Given the description of an element on the screen output the (x, y) to click on. 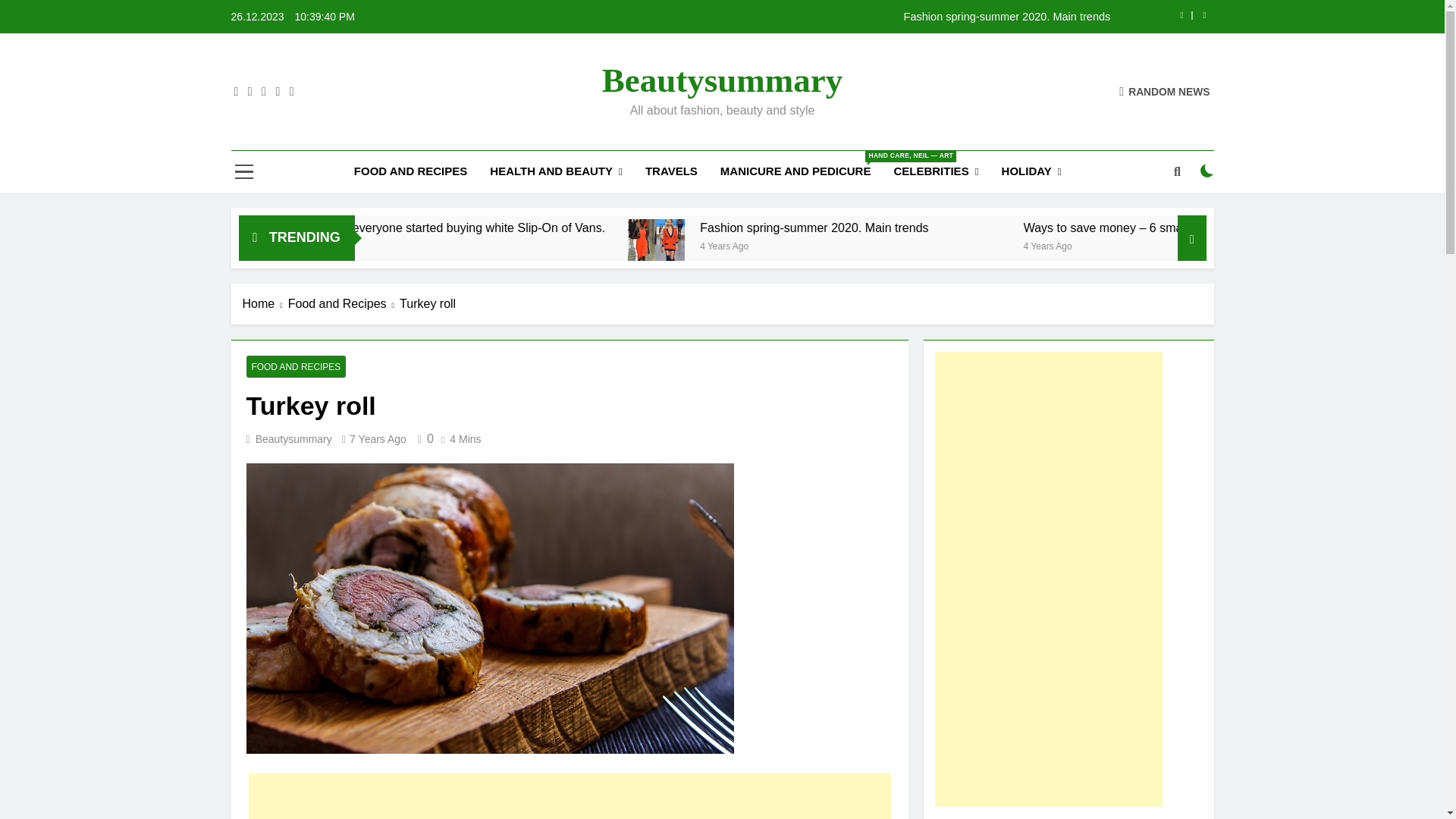
RANDOM NEWS (1164, 91)
FOOD AND RECIPES (410, 170)
Fashion spring-summer 2020. Main trends (808, 247)
Fashion spring-summer 2020. Main trends (817, 16)
TRAVELS (671, 170)
Fashion spring-summer 2020. Main trends (959, 227)
Fashion spring-summer 2020. Main trends (817, 16)
CELEBRITIES (936, 171)
on (1206, 170)
Beautysummary (722, 80)
HEALTH AND BEAUTY (556, 171)
Fashion spring-summer 2020. Main trends (805, 247)
HOLIDAY (1031, 171)
